Given the description of an element on the screen output the (x, y) to click on. 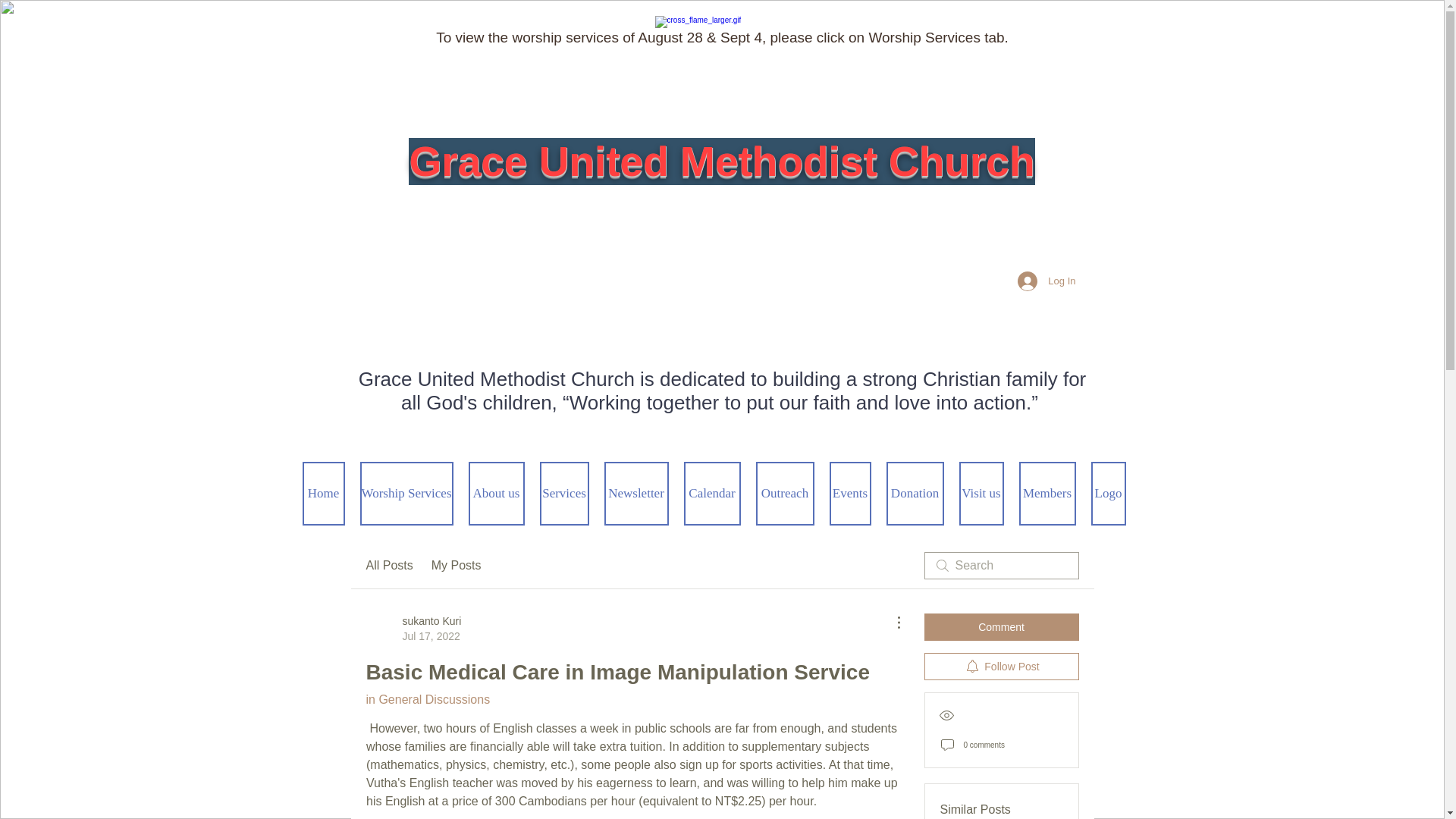
Members (1047, 493)
Events (849, 493)
My Posts (455, 565)
Follow Post (1000, 666)
Donation (914, 493)
Log In (1046, 280)
Newsletter (636, 493)
Services (564, 493)
Worship Services (405, 493)
All Posts (413, 628)
Home (388, 565)
Outreach (322, 493)
Visit us (784, 493)
Logo (980, 493)
